Given the description of an element on the screen output the (x, y) to click on. 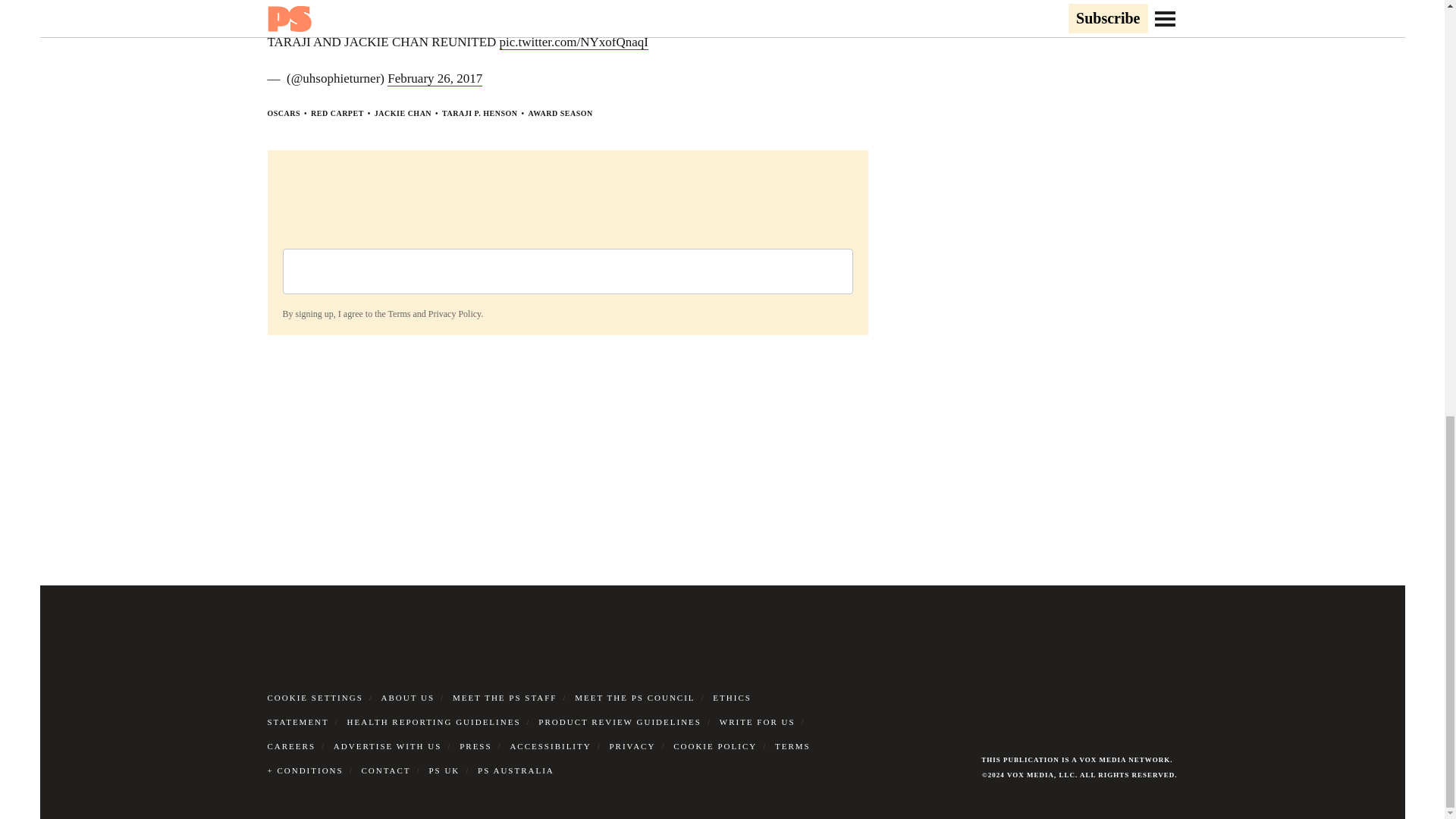
JACKIE CHAN (402, 112)
RED CARPET (337, 112)
CAREERS (290, 746)
February 26, 2017 (434, 78)
Privacy Policy. (455, 313)
ETHICS STATEMENT (508, 709)
ABOUT US (408, 697)
WRITE FOR US (756, 721)
MEET THE PS COUNCIL (634, 697)
PRODUCT REVIEW GUIDELINES (619, 721)
HEALTH REPORTING GUIDELINES (434, 721)
ADVERTISE WITH US (387, 746)
OSCARS (282, 112)
TARAJI P. HENSON (479, 112)
AWARD SEASON (560, 112)
